Given the description of an element on the screen output the (x, y) to click on. 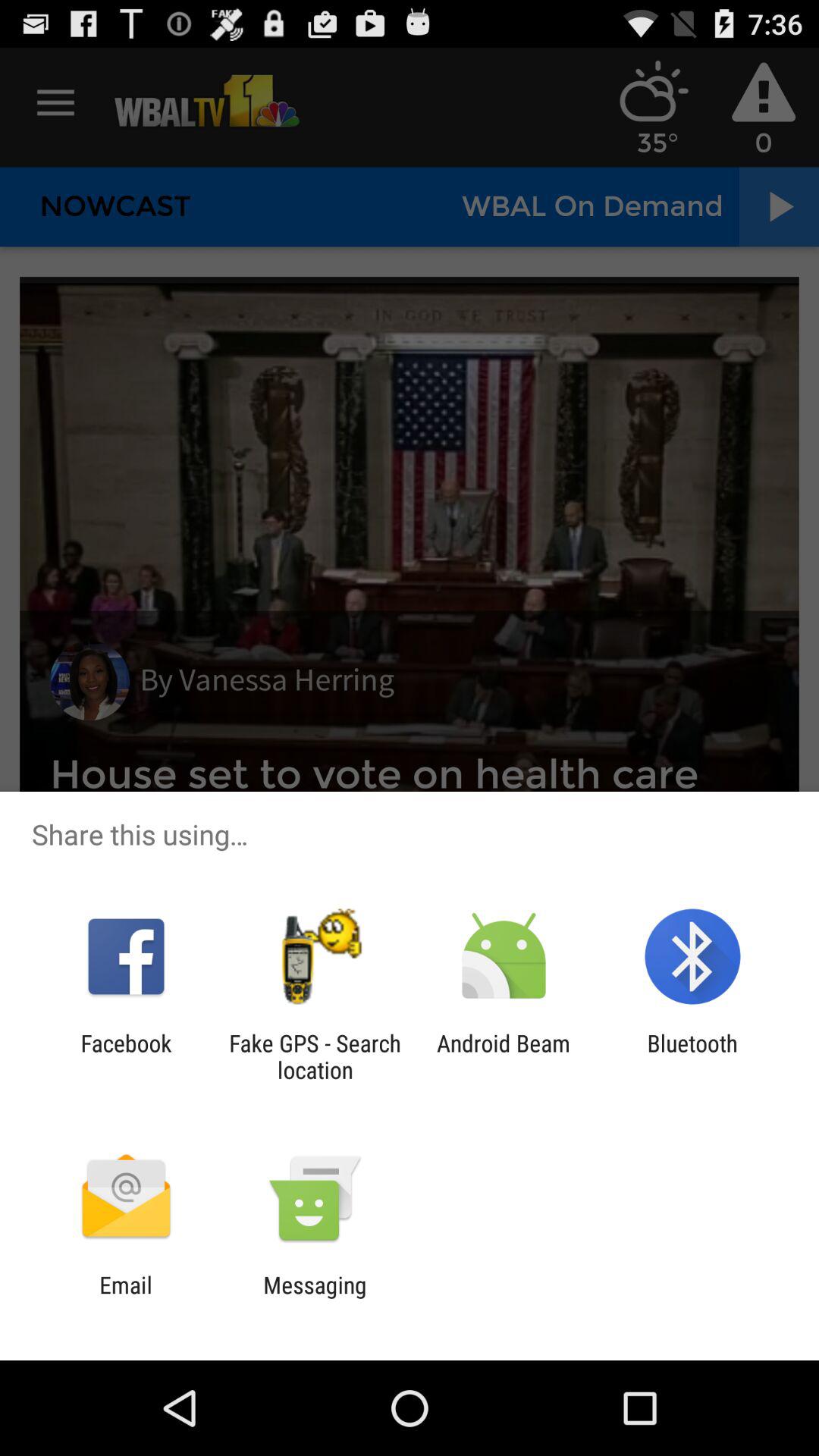
press the facebook (125, 1056)
